Given the description of an element on the screen output the (x, y) to click on. 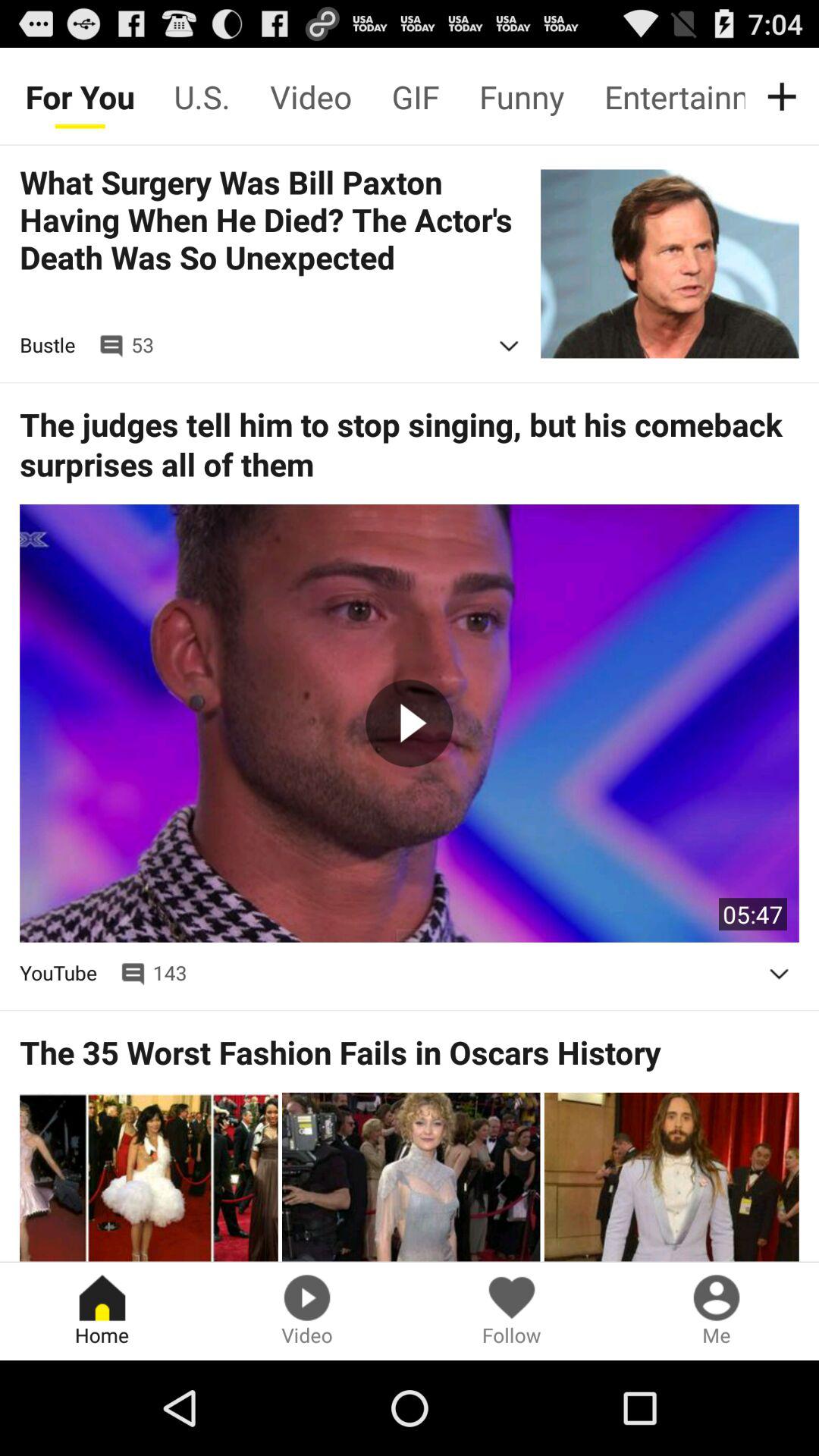
add tab (785, 96)
